Given the description of an element on the screen output the (x, y) to click on. 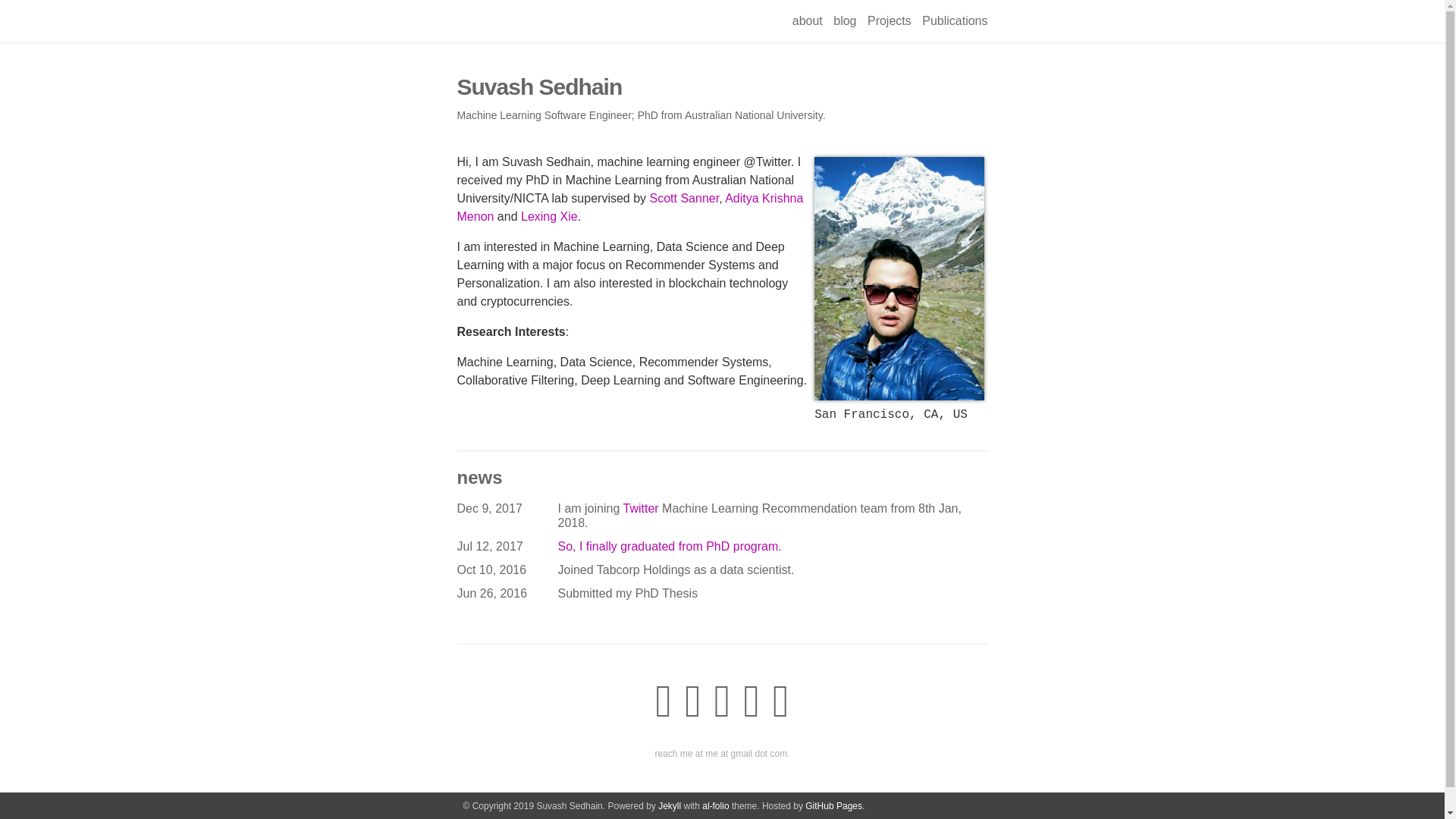
Jekyll (669, 805)
Aditya Krishna Menon (630, 205)
al-folio (715, 805)
about (807, 20)
GitHub Pages (833, 805)
Scott Sanner (684, 196)
Publications (954, 20)
Projects (889, 20)
Twitter (640, 508)
blog (844, 20)
